Given the description of an element on the screen output the (x, y) to click on. 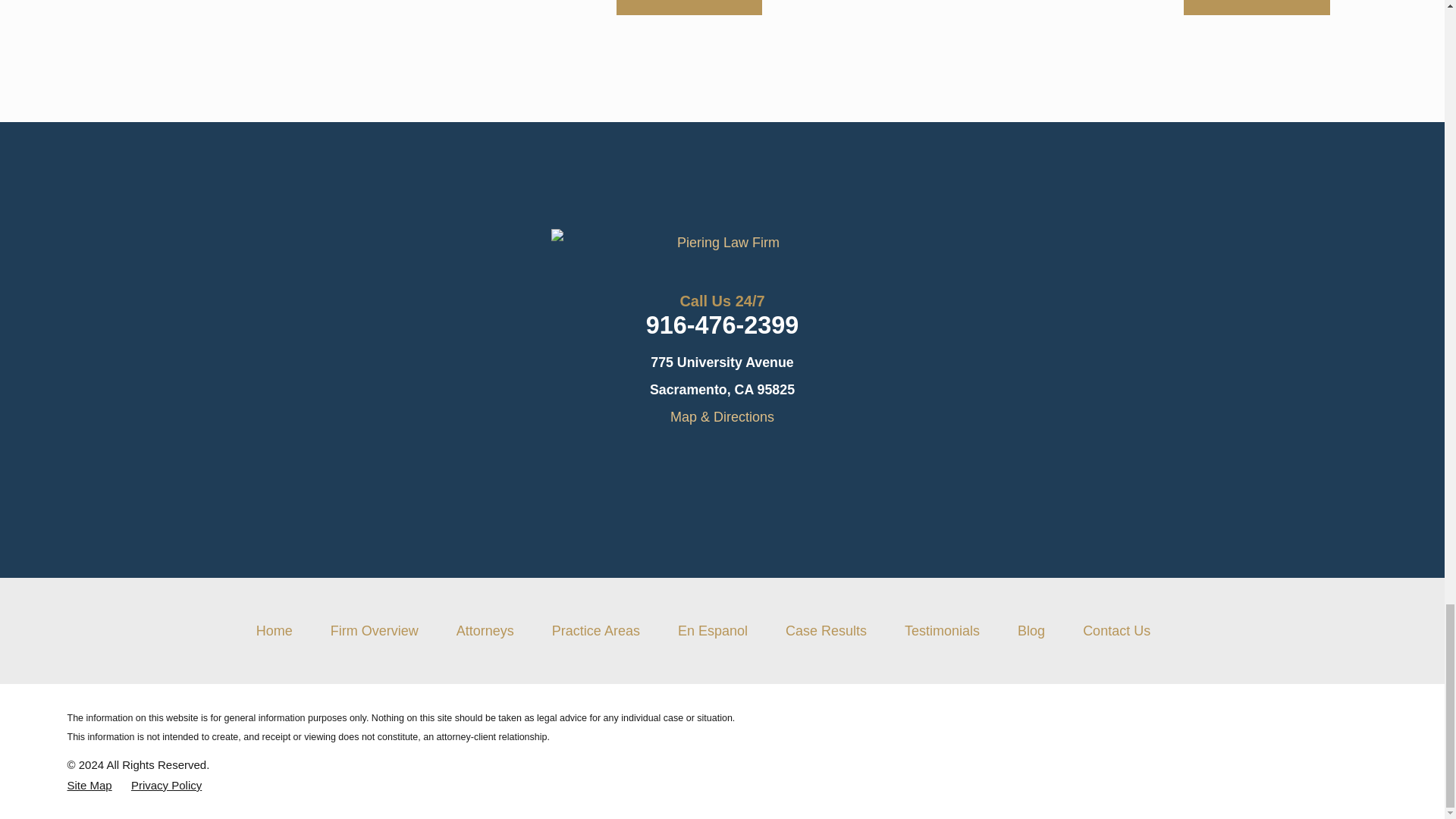
Yelp (680, 460)
Facebook (763, 460)
Home (721, 242)
LinkedIn (722, 460)
